Given the description of an element on the screen output the (x, y) to click on. 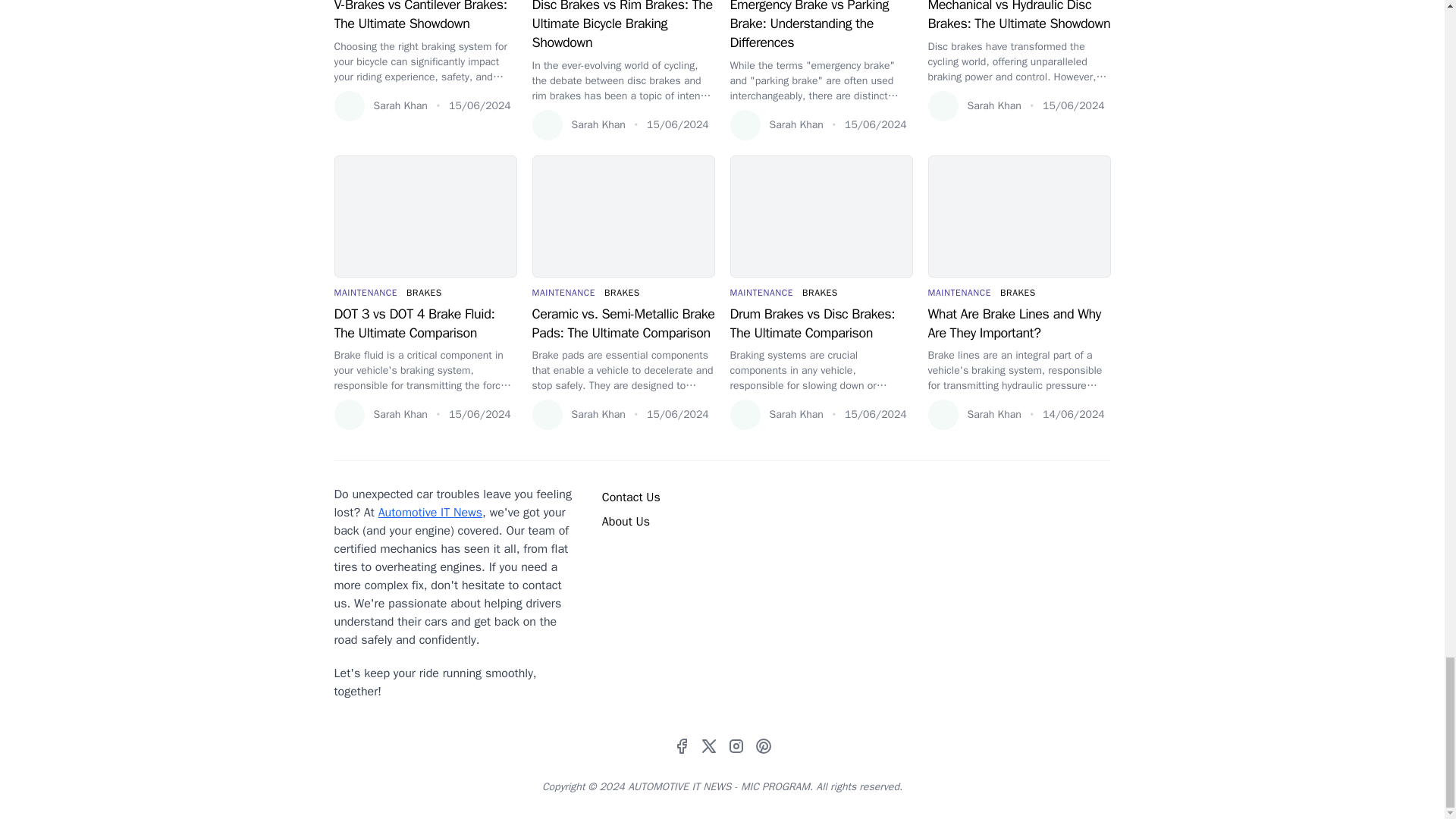
V-Brakes vs Cantilever Brakes: The Ultimate Showdown (424, 16)
Sarah Khan (379, 105)
